Given the description of an element on the screen output the (x, y) to click on. 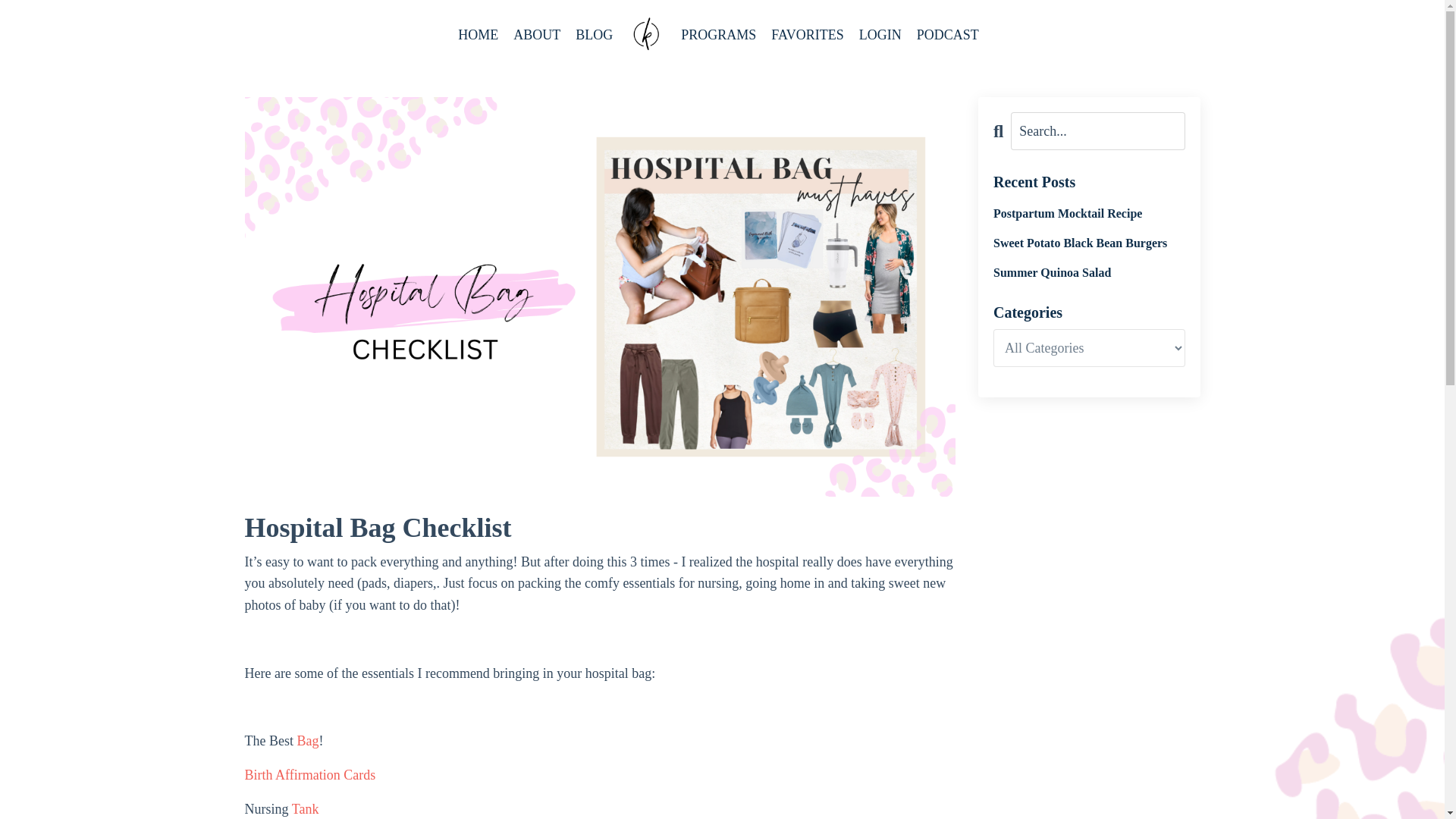
Postpartum Mocktail Recipe (1088, 213)
Sweet Potato Black Bean Burgers (1088, 242)
Birth Affirmation Cards (309, 774)
FAVORITES (807, 34)
LOGIN (880, 34)
Tank (305, 808)
HOME (477, 34)
Summer Quinoa Salad (1088, 272)
PROGRAMS (718, 34)
PODCAST (947, 34)
